Given the description of an element on the screen output the (x, y) to click on. 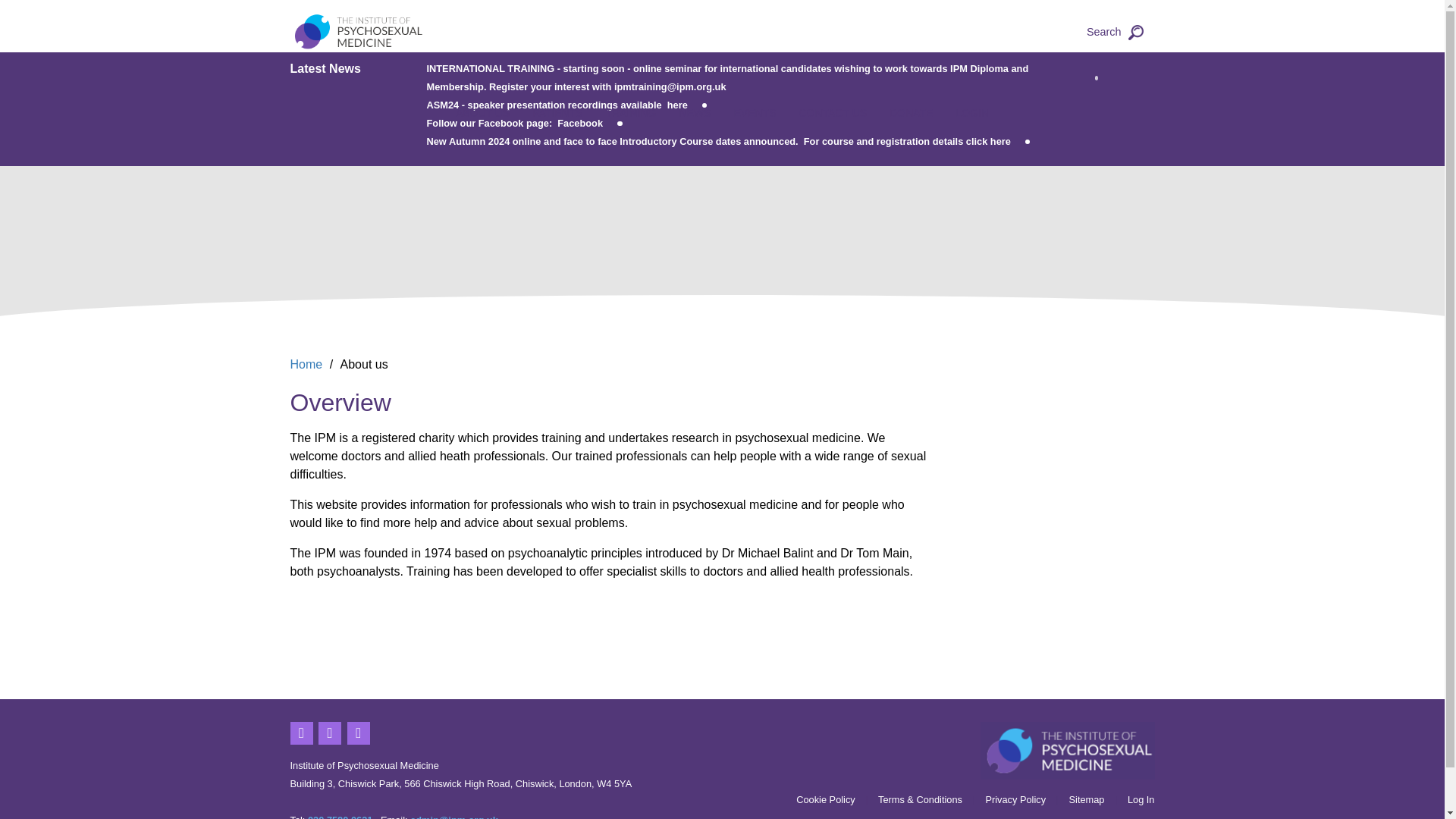
TRAINING (631, 116)
CONTACT US (832, 116)
NEWS (694, 116)
Search (1114, 31)
ABOUT US (482, 116)
EVENTS (754, 116)
Skip to main content (21, 21)
PATIENTS (557, 116)
